Given the description of an element on the screen output the (x, y) to click on. 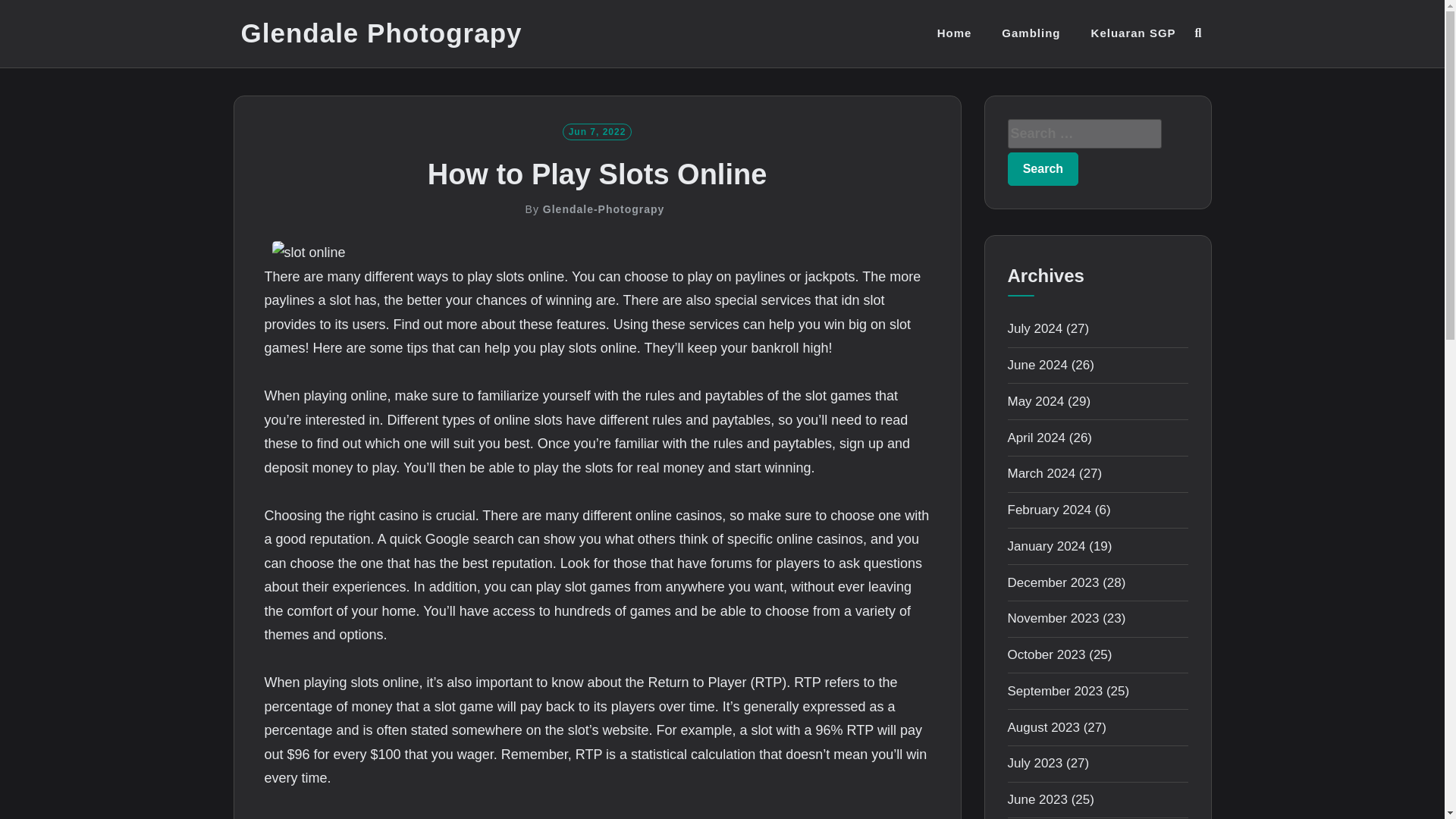
December 2023 (1053, 582)
April 2024 (1036, 437)
Gambling (1030, 33)
Search (1042, 168)
September 2023 (1054, 690)
November 2023 (1053, 617)
Home (954, 33)
July 2023 (1034, 762)
Search (1042, 168)
June 2024 (1037, 364)
August 2023 (1042, 727)
Glendale-Photograpy (604, 209)
October 2023 (1045, 654)
January 2024 (1045, 545)
Search (1042, 168)
